Given the description of an element on the screen output the (x, y) to click on. 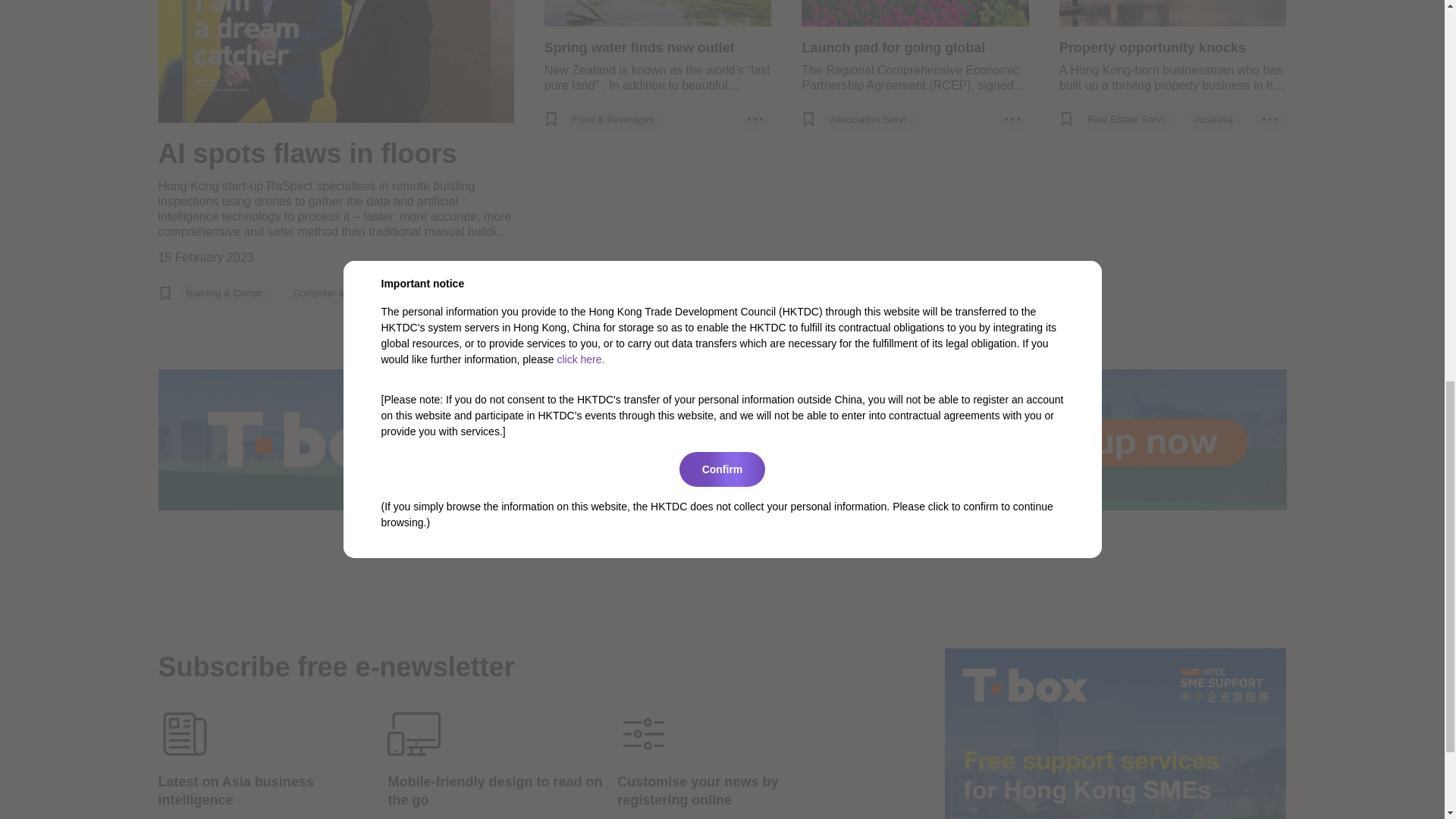
Hong Kong (432, 293)
